Given the description of an element on the screen output the (x, y) to click on. 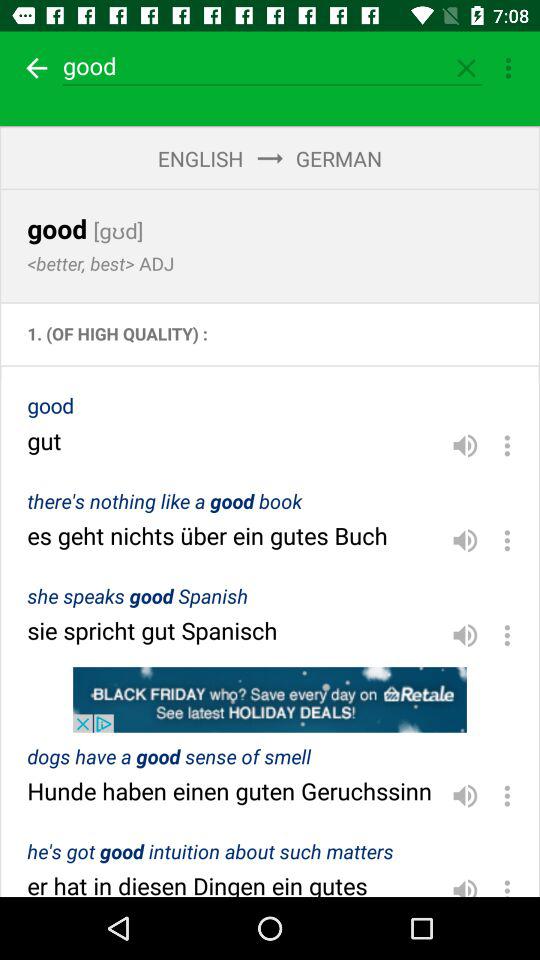
click three dots (507, 883)
